Given the description of an element on the screen output the (x, y) to click on. 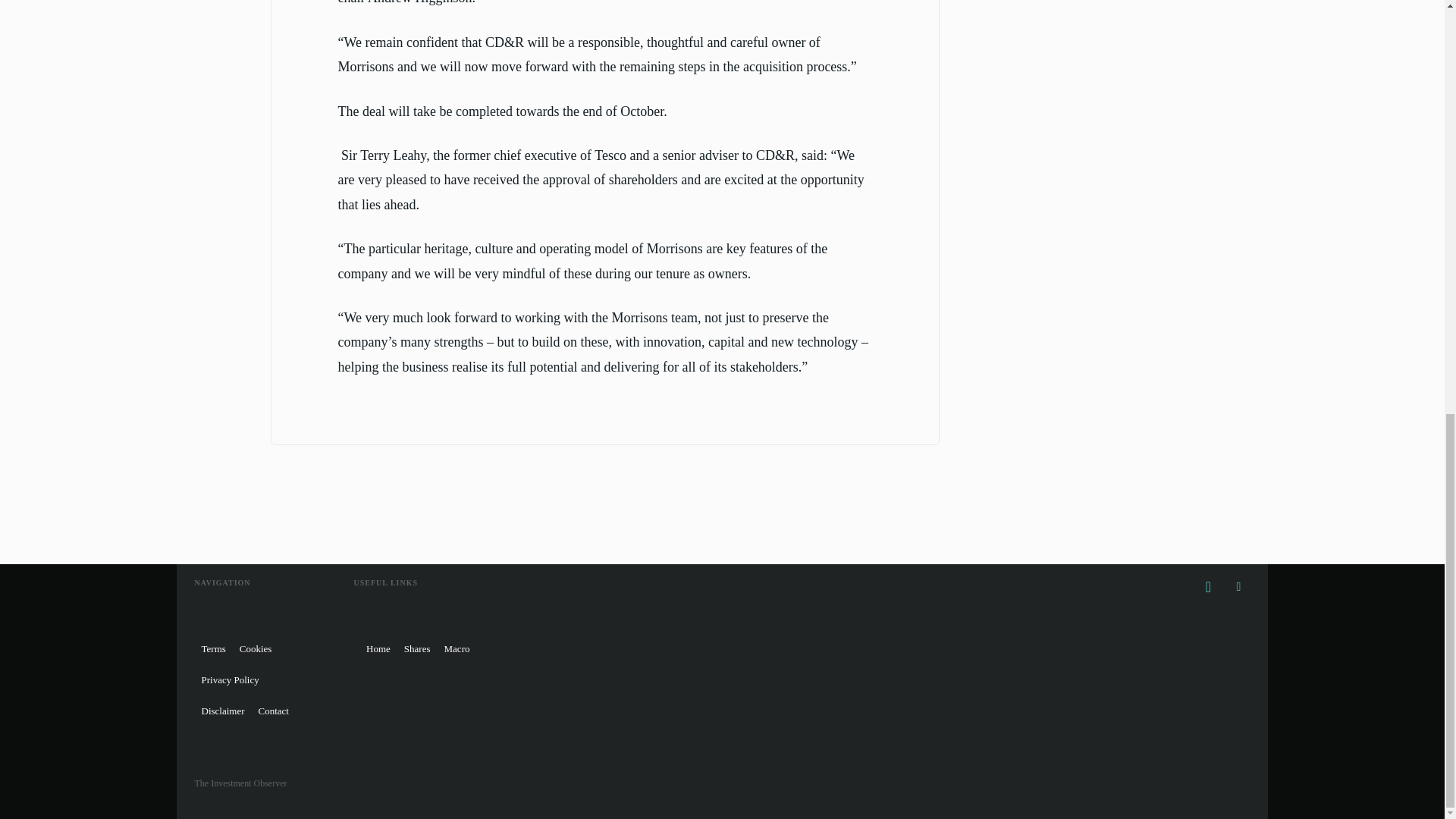
Macro (457, 648)
Contact (273, 710)
Home (378, 648)
Privacy Policy (228, 679)
Shares (417, 648)
Terms (212, 648)
Disclaimer (221, 710)
Cookies (255, 648)
